Given the description of an element on the screen output the (x, y) to click on. 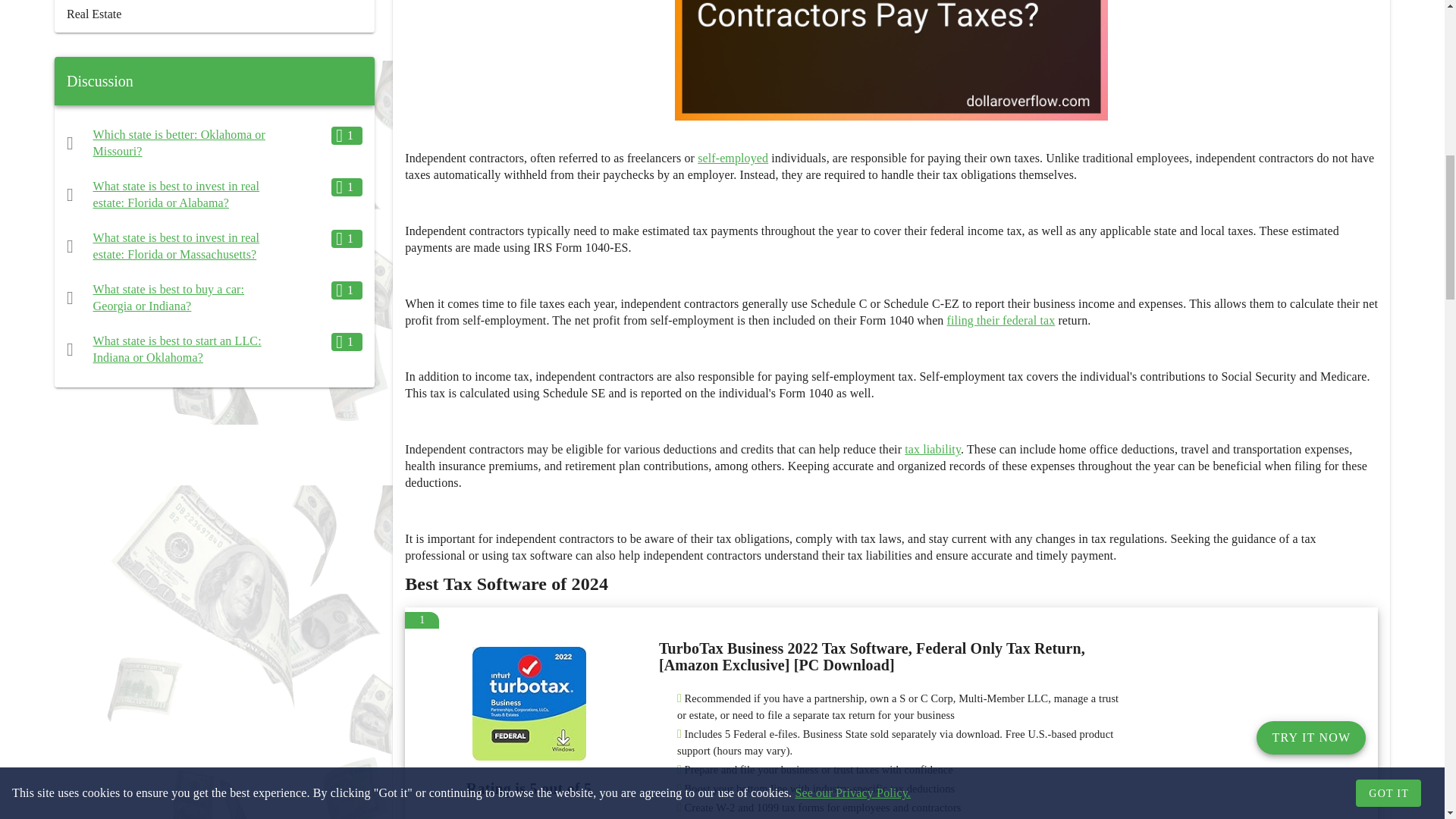
What state is best to start an LLC: Indiana or Oklahoma? (177, 348)
What state is best to buy a car: Georgia or Indiana? (168, 297)
What state is best to buy a car: Georgia or Indiana? (168, 297)
Which state is better: Oklahoma or Missouri? (178, 142)
Real Estate (214, 16)
What state is best to start an LLC: Indiana or Oklahoma? (177, 348)
Which state is better: Oklahoma or Missouri? (178, 142)
